Given the description of an element on the screen output the (x, y) to click on. 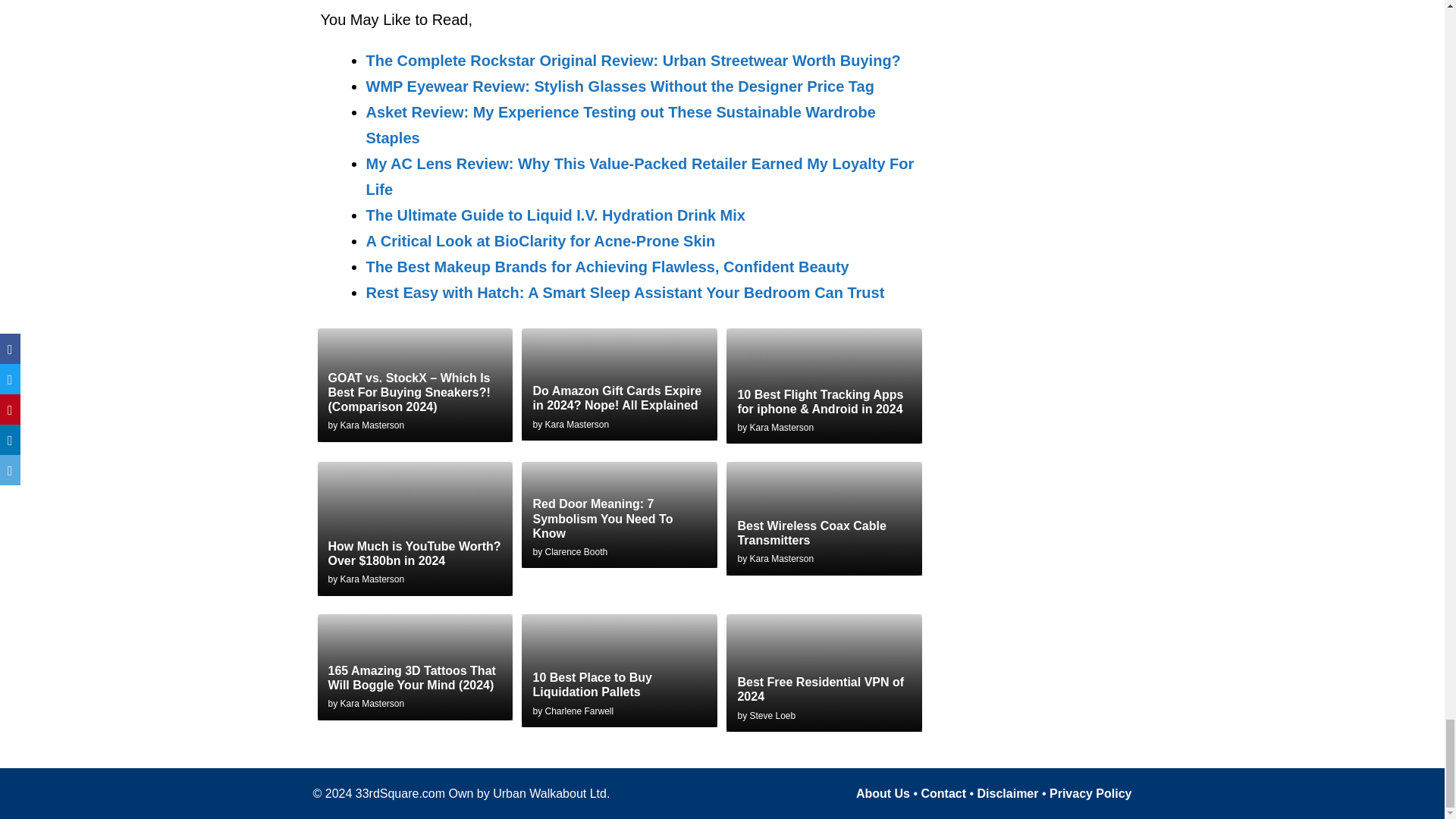
A Critical Look at BioClarity for Acne-Prone Skin (539, 240)
The Ultimate Guide to Liquid I.V. Hydration Drink Mix (554, 215)
